Given the description of an element on the screen output the (x, y) to click on. 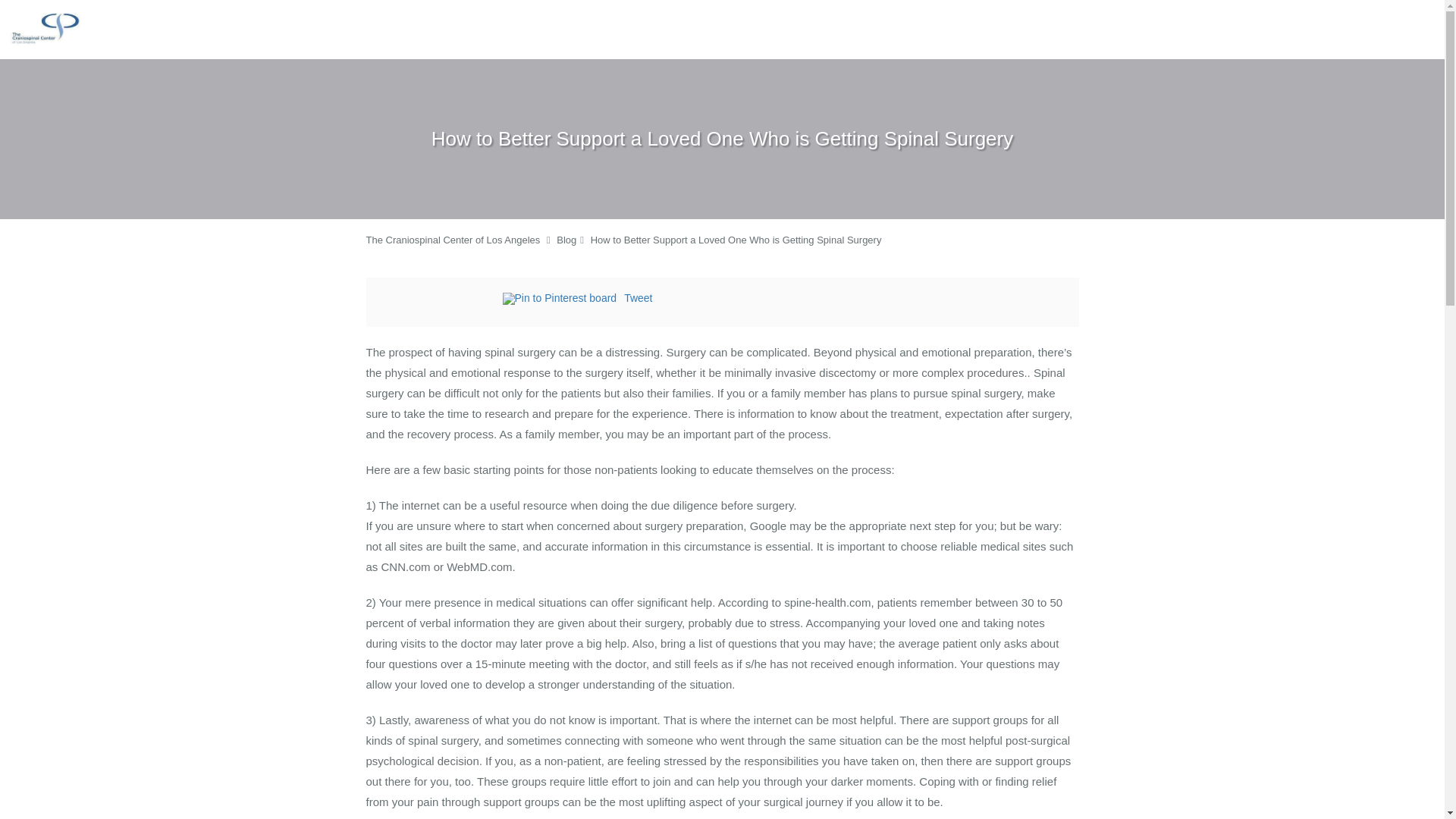
The Craniospinal Center of Los Angeles (452, 239)
Tweet (638, 297)
Blog (566, 239)
Skip to main content (74, 7)
Facebook social button (441, 300)
